Given the description of an element on the screen output the (x, y) to click on. 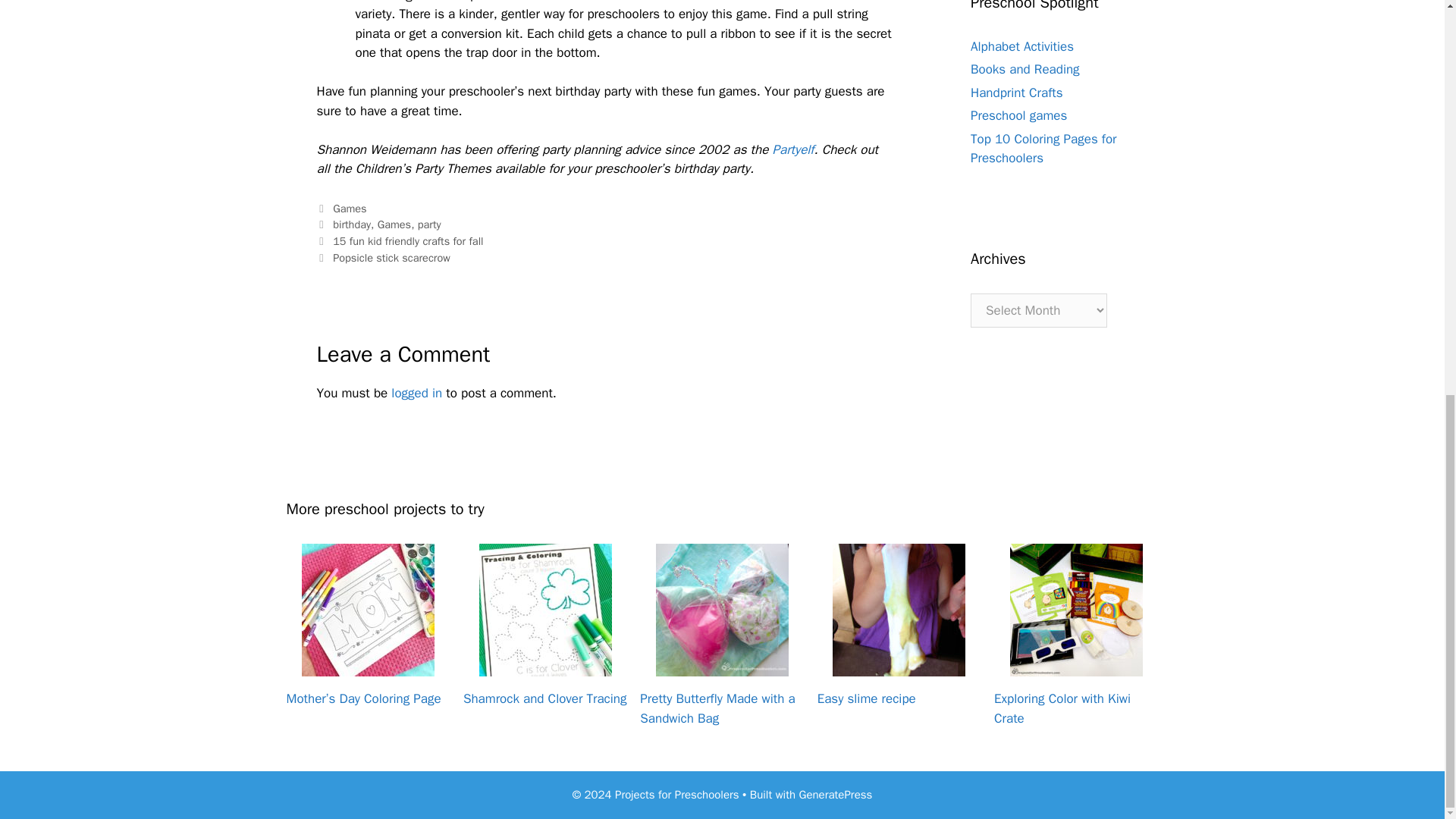
Exploring Color with Kiwi Crate (1076, 666)
Partyelf (792, 149)
Pretty Butterfly Made with a Sandwich Bag (722, 666)
Shamrock and Clover Tracing (545, 666)
Easy slime recipe (898, 666)
